Given the description of an element on the screen output the (x, y) to click on. 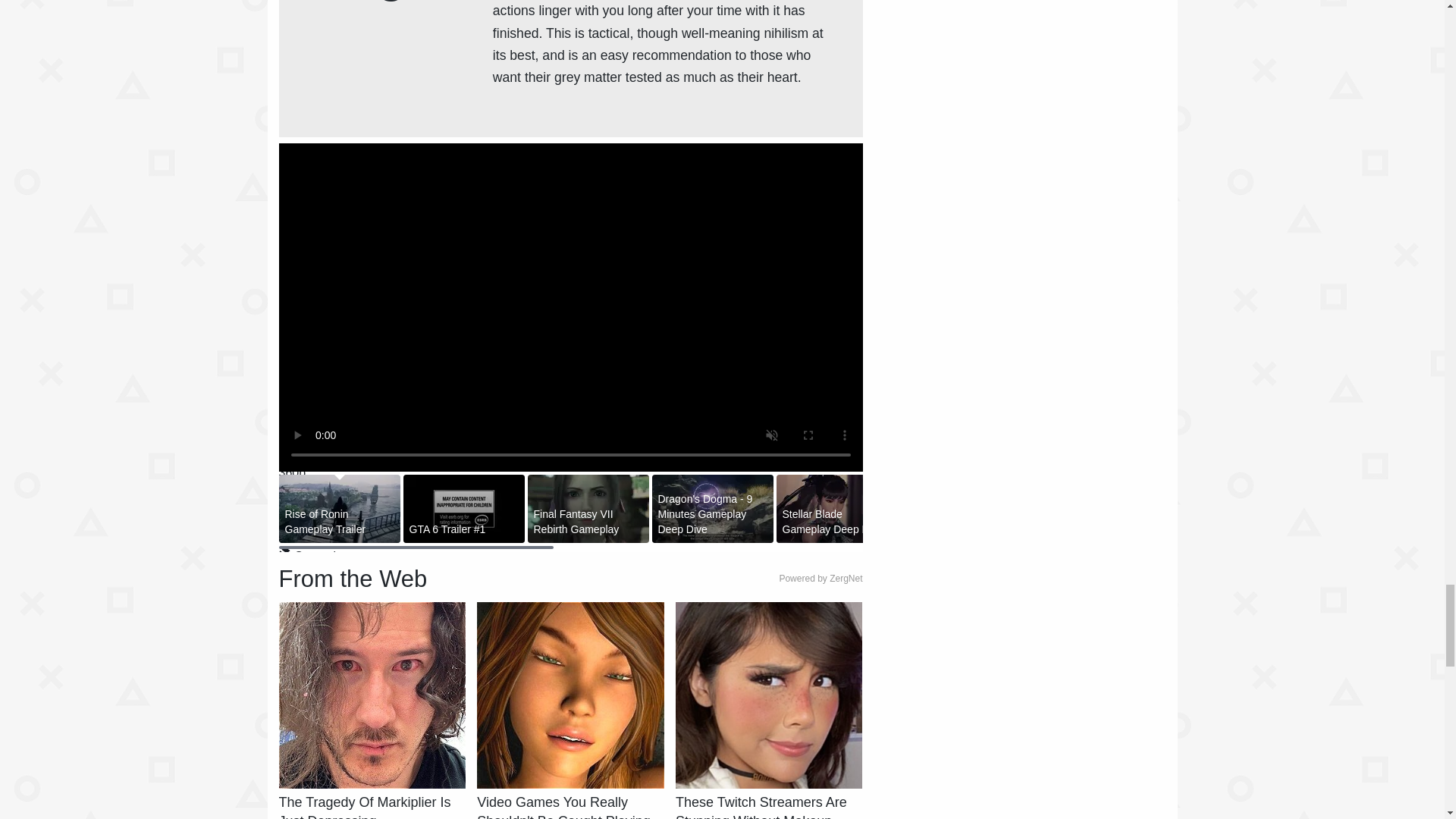
Powered by ZergNet (819, 578)
The Tragedy Of Markiplier Is Just Depressing (372, 806)
These Twitch Streamers Are Stunning Without Makeup (768, 806)
